Given the description of an element on the screen output the (x, y) to click on. 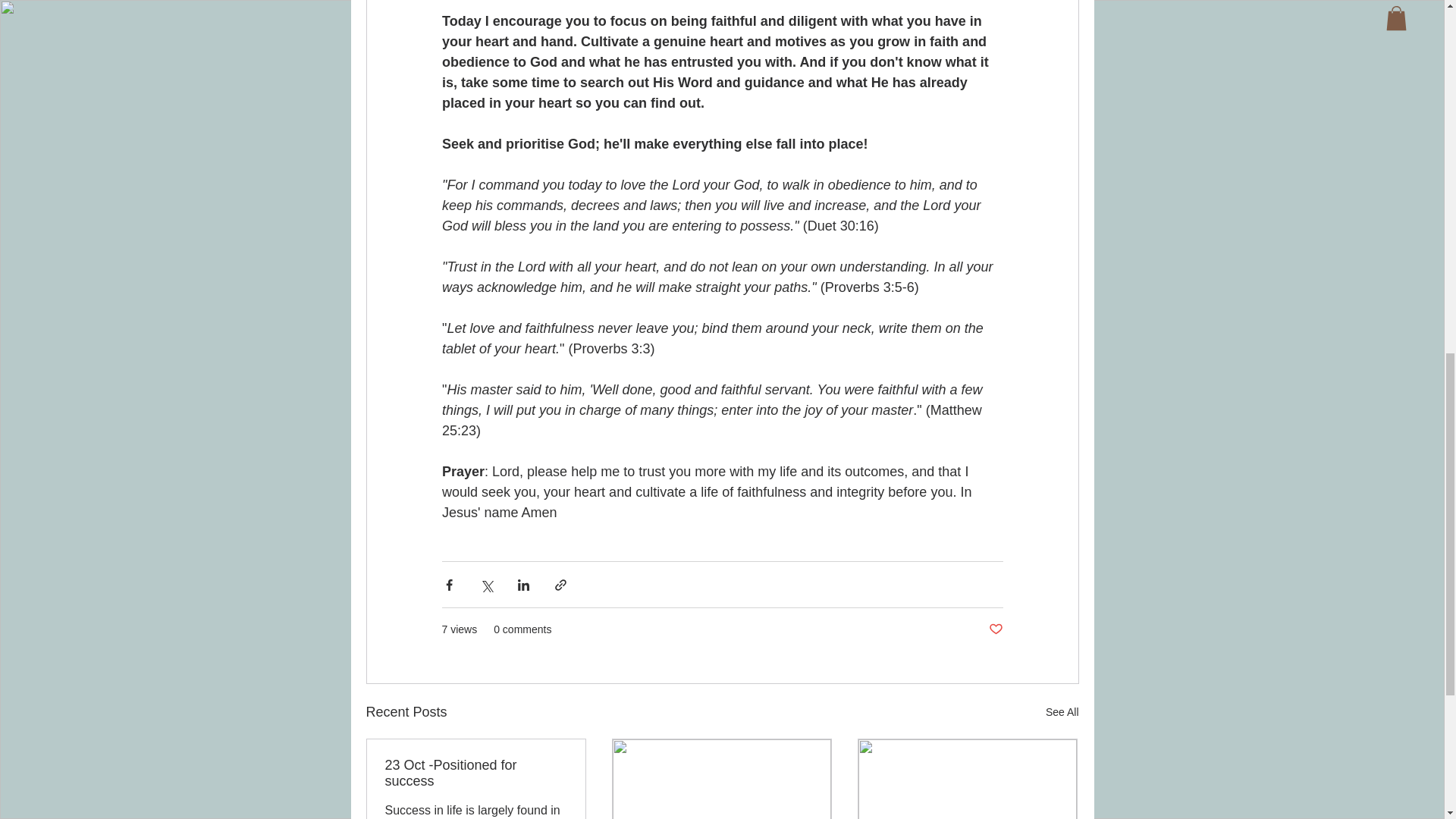
See All (1061, 712)
Post not marked as liked (995, 629)
23 Oct -Positioned for success (476, 773)
